Given the description of an element on the screen output the (x, y) to click on. 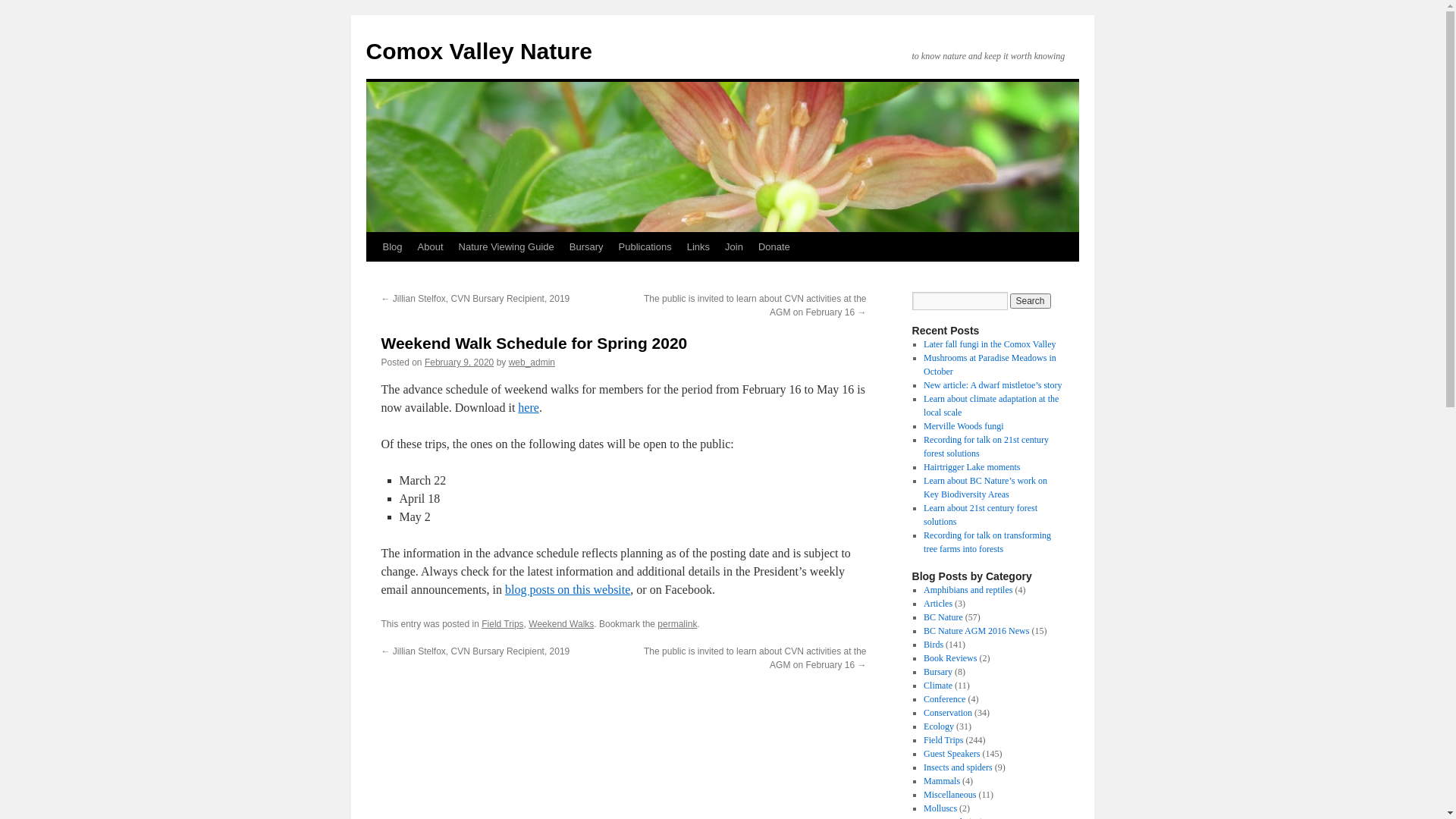
Later fall fungi in the Comox Valley Element type: text (989, 343)
Molluscs Element type: text (940, 808)
permalink Element type: text (676, 623)
Links Element type: text (698, 246)
Recording for talk on transforming tree farms into forests Element type: text (987, 542)
Birds Element type: text (933, 644)
Mammals Element type: text (941, 780)
Guest Speakers Element type: text (951, 753)
Bursary Element type: text (586, 246)
BC Nature Element type: text (943, 616)
Book Reviews Element type: text (949, 657)
Recording for talk on 21st century forest solutions Element type: text (985, 446)
Climate Element type: text (937, 685)
Ecology Element type: text (938, 726)
Miscellaneous Element type: text (949, 794)
Nature Viewing Guide Element type: text (506, 246)
Search Element type: text (1030, 300)
Learn about 21st century forest solutions Element type: text (980, 514)
About Element type: text (430, 246)
Conference Element type: text (944, 698)
Weekend Walks Element type: text (560, 623)
Join Element type: text (733, 246)
Insects and spiders Element type: text (957, 767)
Comox Valley Nature Element type: text (478, 50)
Publications Element type: text (645, 246)
blog posts on this website Element type: text (567, 589)
BC Nature AGM 2016 News Element type: text (976, 630)
Hairtrigger Lake moments Element type: text (971, 466)
Field Trips Element type: text (502, 623)
web_admin Element type: text (531, 362)
Merville Woods fungi Element type: text (963, 425)
Mushrooms at Paradise Meadows in October Element type: text (989, 364)
here Element type: text (528, 407)
Donate Element type: text (773, 246)
Amphibians and reptiles Element type: text (967, 589)
Conservation Element type: text (947, 712)
Bursary Element type: text (937, 671)
Field Trips Element type: text (943, 739)
Learn about climate adaptation at the local scale Element type: text (990, 405)
Blog Element type: text (391, 246)
Articles Element type: text (937, 603)
Skip to content Element type: text (372, 275)
February 9, 2020 Element type: text (458, 362)
